Given the description of an element on the screen output the (x, y) to click on. 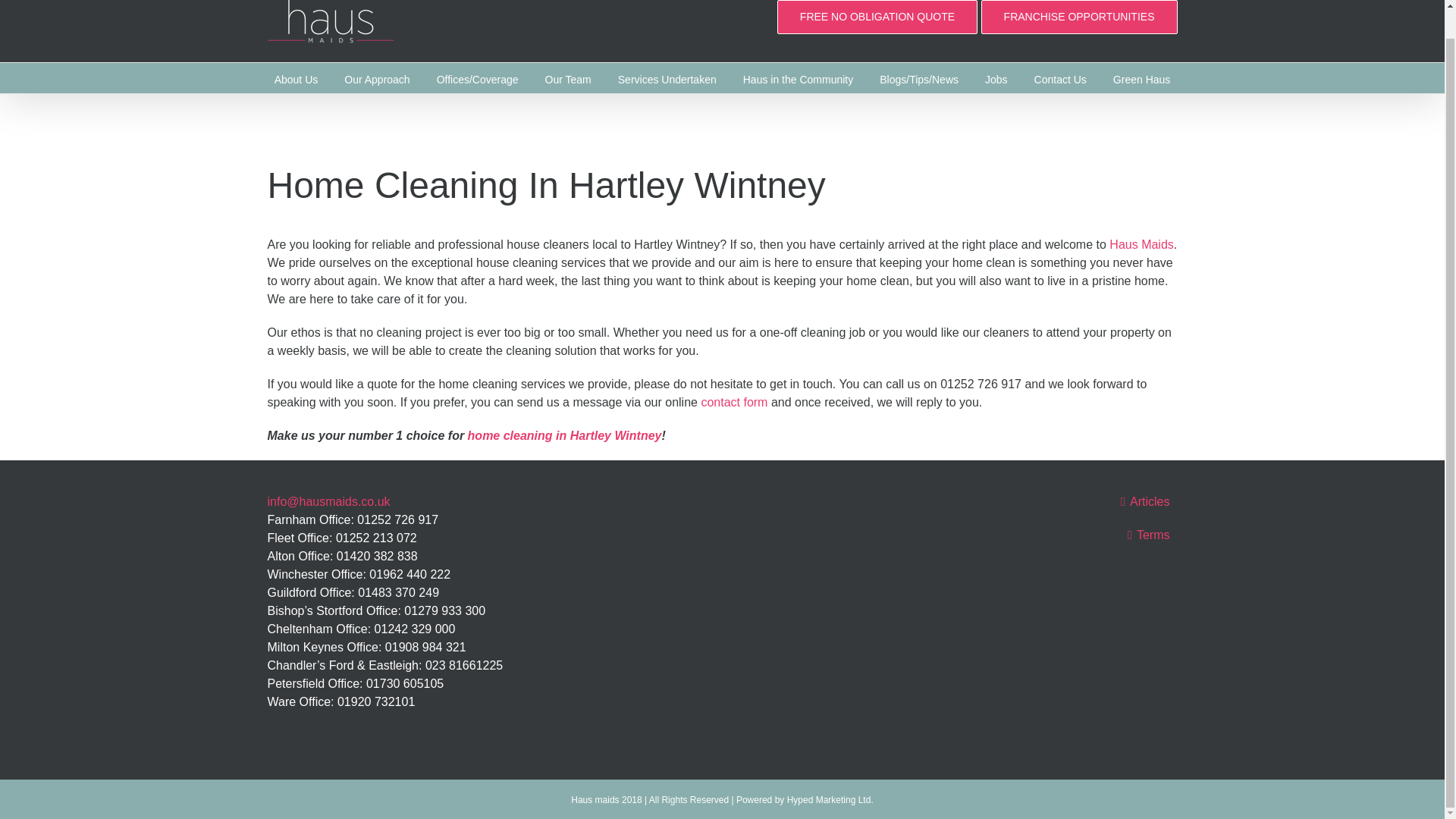
Contact Us (1059, 78)
Services Undertaken (666, 78)
Our Team (567, 78)
FRANCHISE OPPORTUNITIES (1079, 17)
About Us (296, 78)
Green Haus (1141, 78)
Our Approach (376, 78)
Haus in the Community (797, 78)
FREE NO OBLIGATION QUOTE (876, 17)
